Given the description of an element on the screen output the (x, y) to click on. 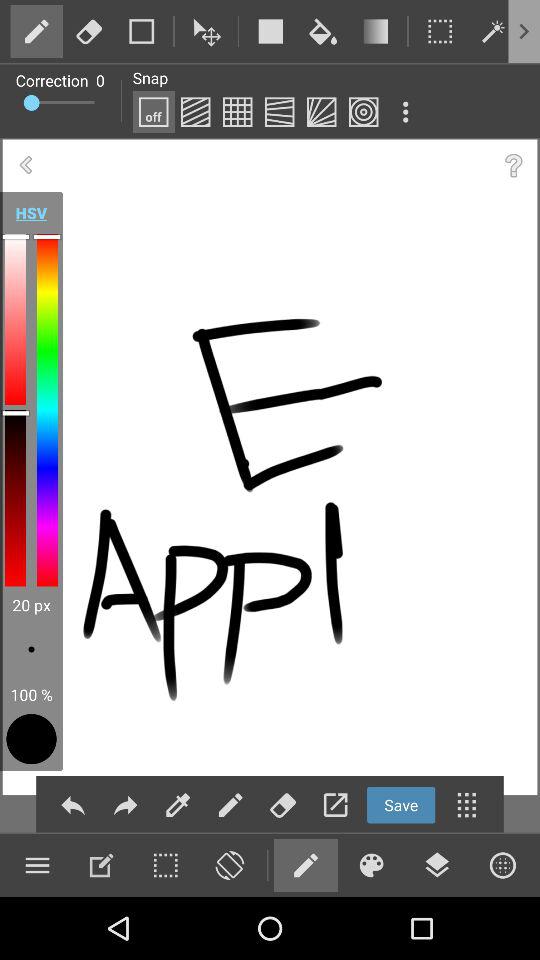
paint menu (37, 865)
